Given the description of an element on the screen output the (x, y) to click on. 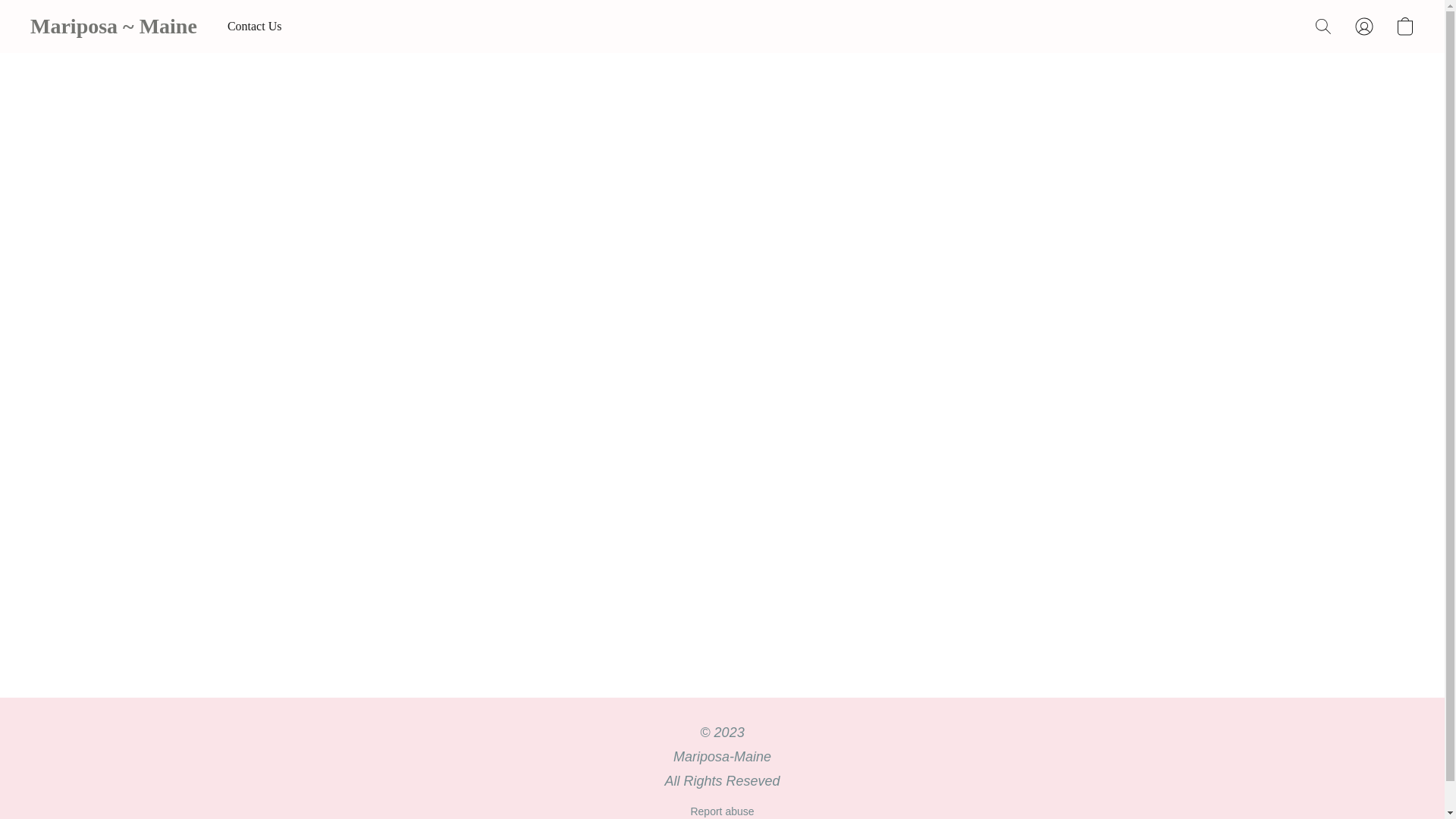
Contact Us (254, 26)
Search the website (1323, 26)
Go to your shopping cart (1404, 26)
Report abuse (722, 810)
